Given the description of an element on the screen output the (x, y) to click on. 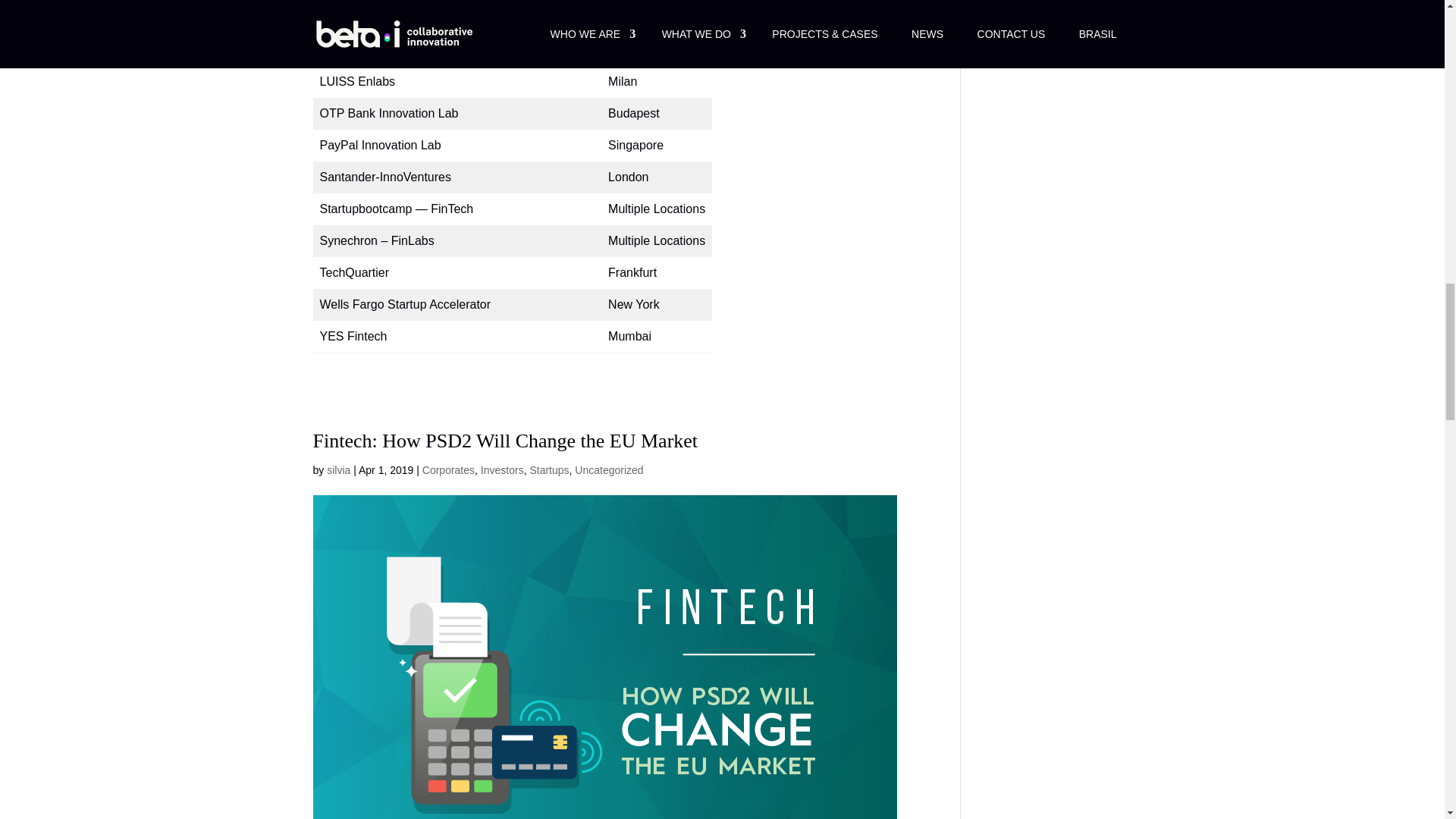
Uncategorized (609, 469)
Posts by silvia (338, 469)
Investors (502, 469)
Fintech: How PSD2 Will Change the EU Market (505, 440)
Startups (549, 469)
Corporates (448, 469)
silvia (338, 469)
